Given the description of an element on the screen output the (x, y) to click on. 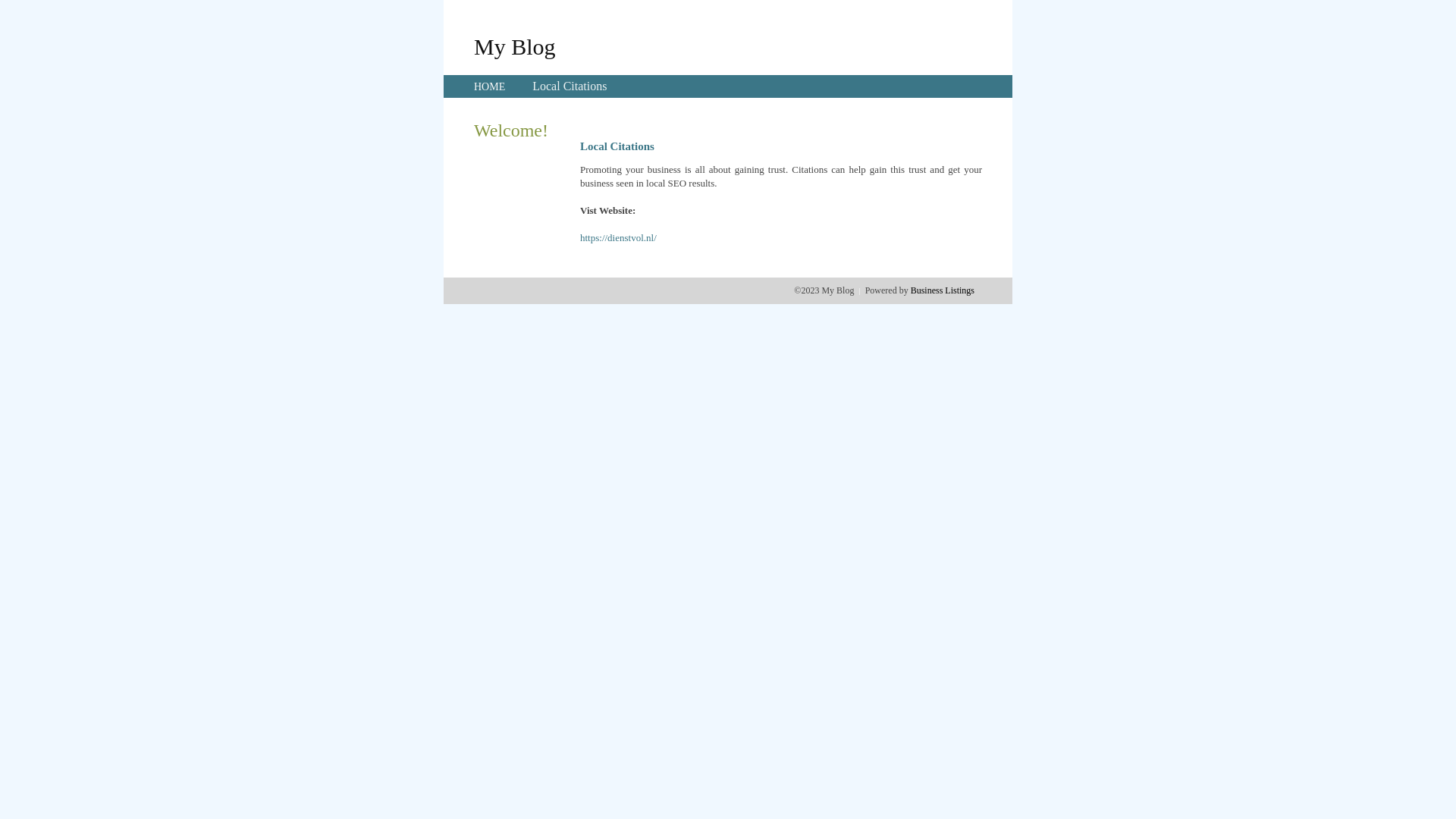
Local Citations Element type: text (569, 85)
Business Listings Element type: text (942, 290)
My Blog Element type: text (514, 46)
HOME Element type: text (489, 86)
https://dienstvol.nl/ Element type: text (618, 237)
